Given the description of an element on the screen output the (x, y) to click on. 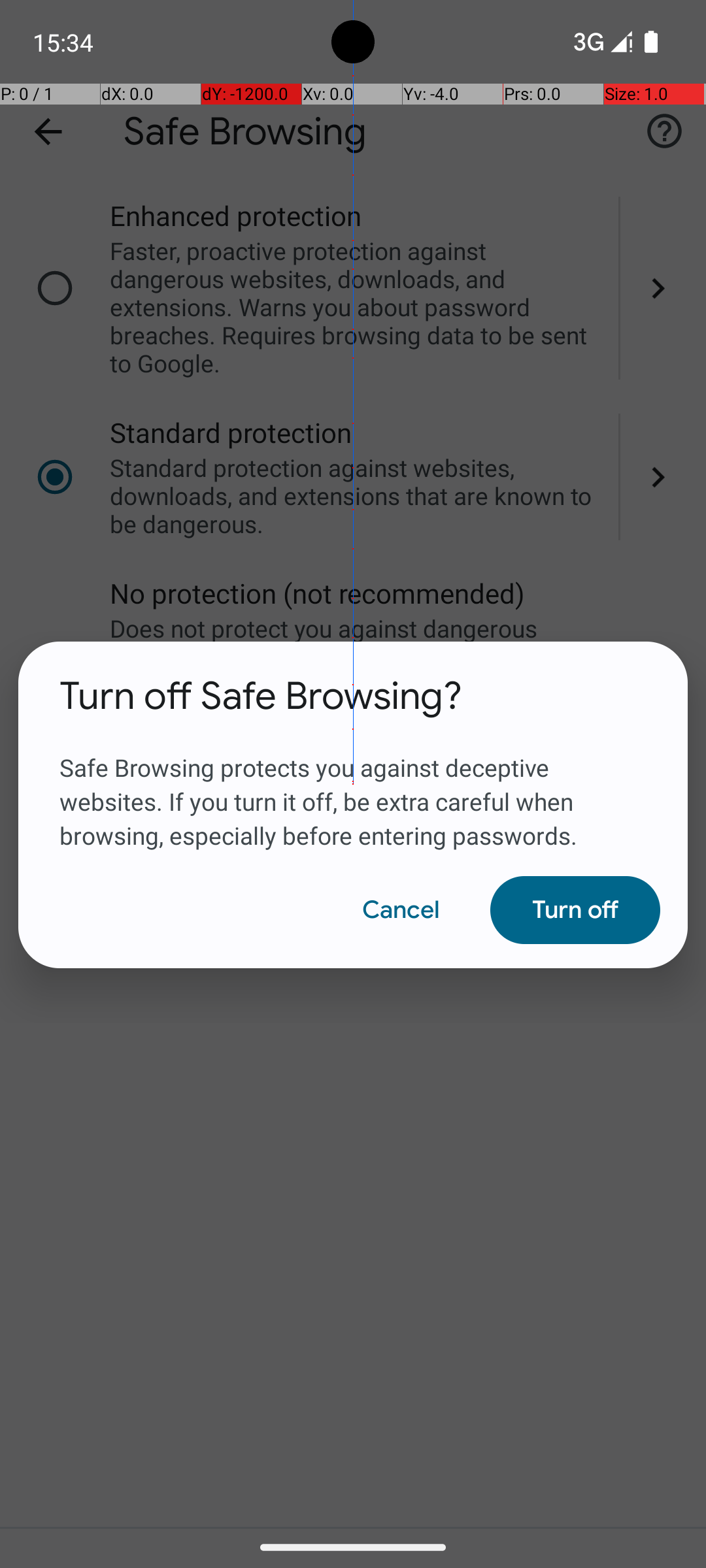
Turn off Safe Browsing? Element type: android.widget.TextView (260, 695)
Safe Browsing protects you against deceptive websites. If you turn it off, be extra careful when browsing, especially before entering passwords. Element type: android.widget.TextView (352, 785)
Turn off Element type: android.widget.Button (575, 909)
